Given the description of an element on the screen output the (x, y) to click on. 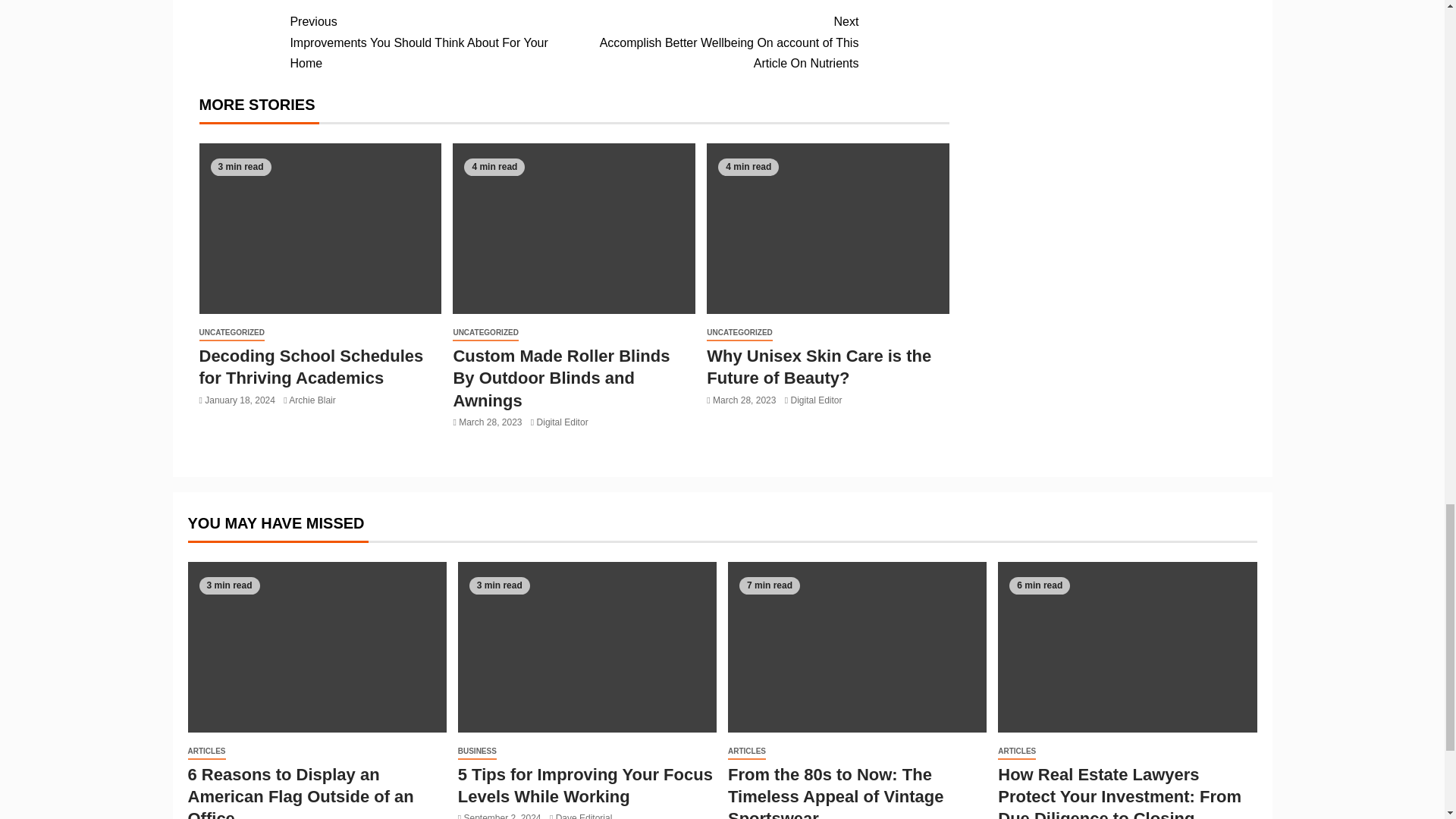
Digital Editor (431, 42)
ARTICLES (562, 421)
Decoding School Schedules for Thriving Academics (206, 751)
UNCATEGORIZED (310, 366)
Why Unisex Skin Care is the Future of Beauty? (738, 333)
UNCATEGORIZED (818, 366)
6 Reasons to Display an American Flag Outside of an Office (230, 333)
Archie Blair (300, 791)
Custom Made Roller Blinds By Outdoor Blinds and Awnings (311, 399)
